Given the description of an element on the screen output the (x, y) to click on. 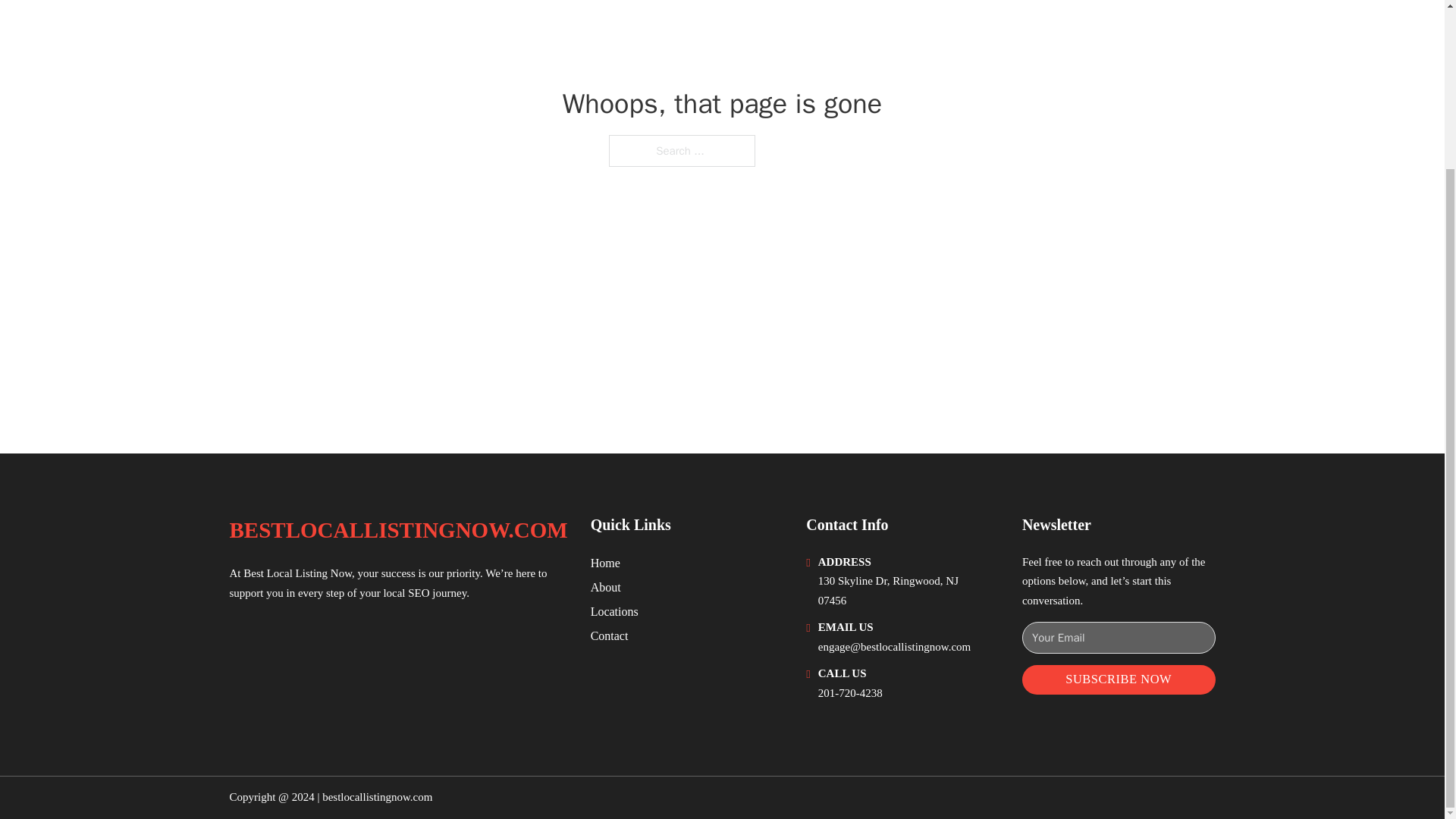
BESTLOCALLISTINGNOW.COM (397, 529)
Home (605, 562)
201-720-4238 (850, 693)
Contact (609, 635)
Locations (615, 611)
About (606, 587)
SUBSCRIBE NOW (1118, 679)
